Given the description of an element on the screen output the (x, y) to click on. 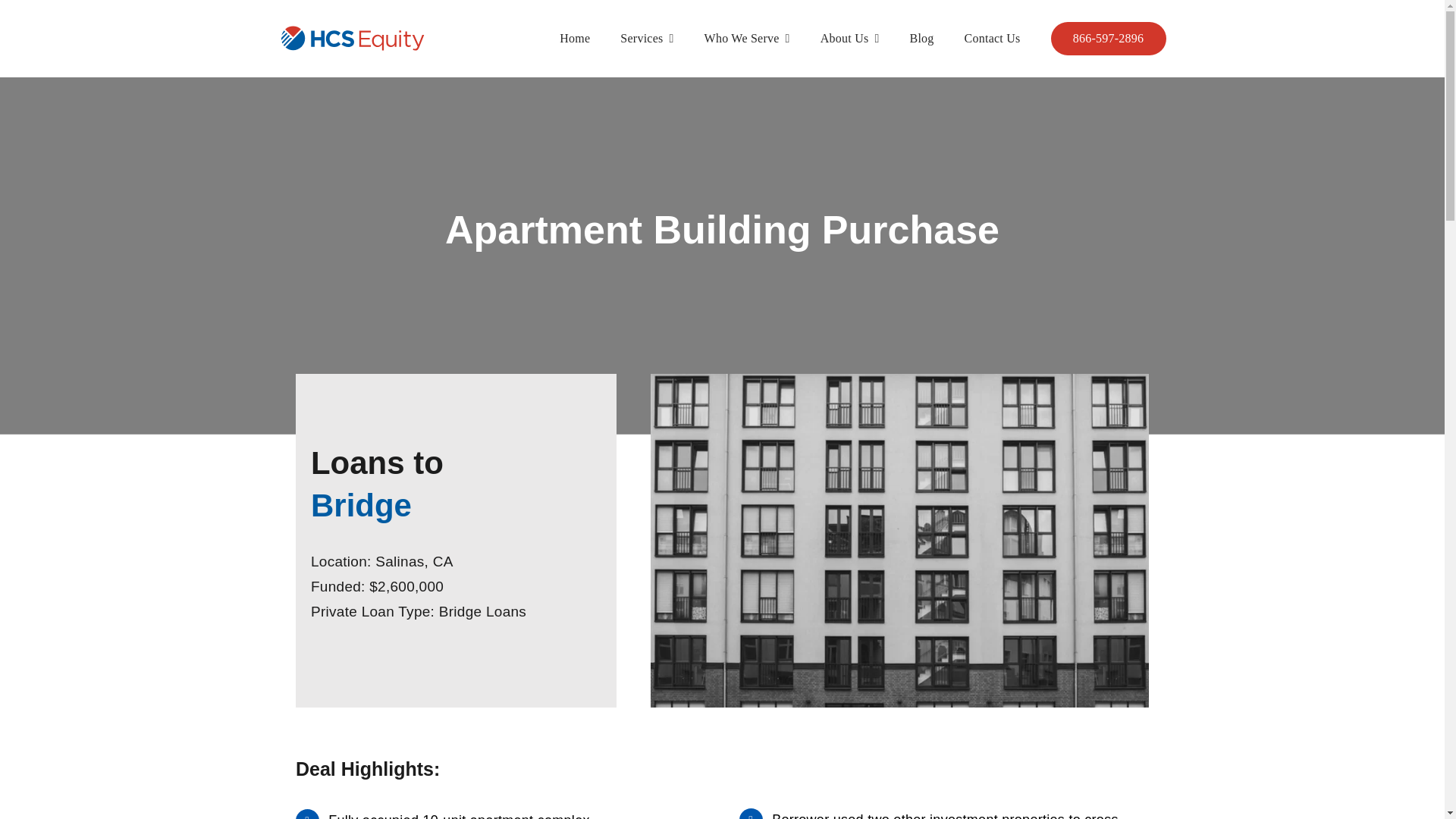
866-597-2896 (1108, 38)
Contact Us (991, 38)
Services (646, 38)
Who We Serve (747, 38)
About Us (850, 38)
